Given the description of an element on the screen output the (x, y) to click on. 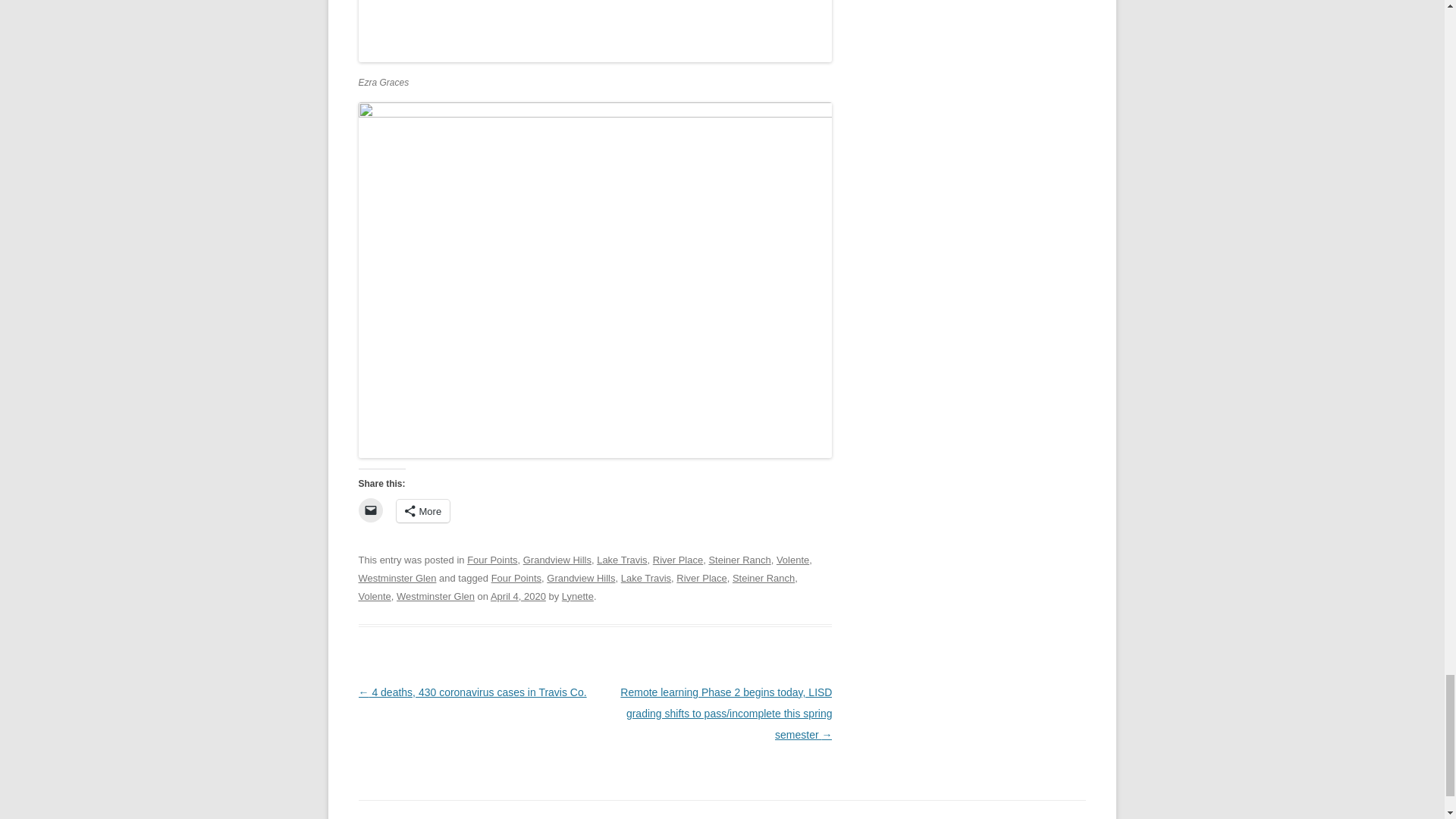
River Place (677, 559)
Westminster Glen (435, 595)
More (422, 510)
Volente (792, 559)
View all posts by Lynette (578, 595)
Four Points (516, 577)
Steiner Ranch (763, 577)
Steiner Ranch (738, 559)
April 4, 2020 (518, 595)
Volente (374, 595)
